Given the description of an element on the screen output the (x, y) to click on. 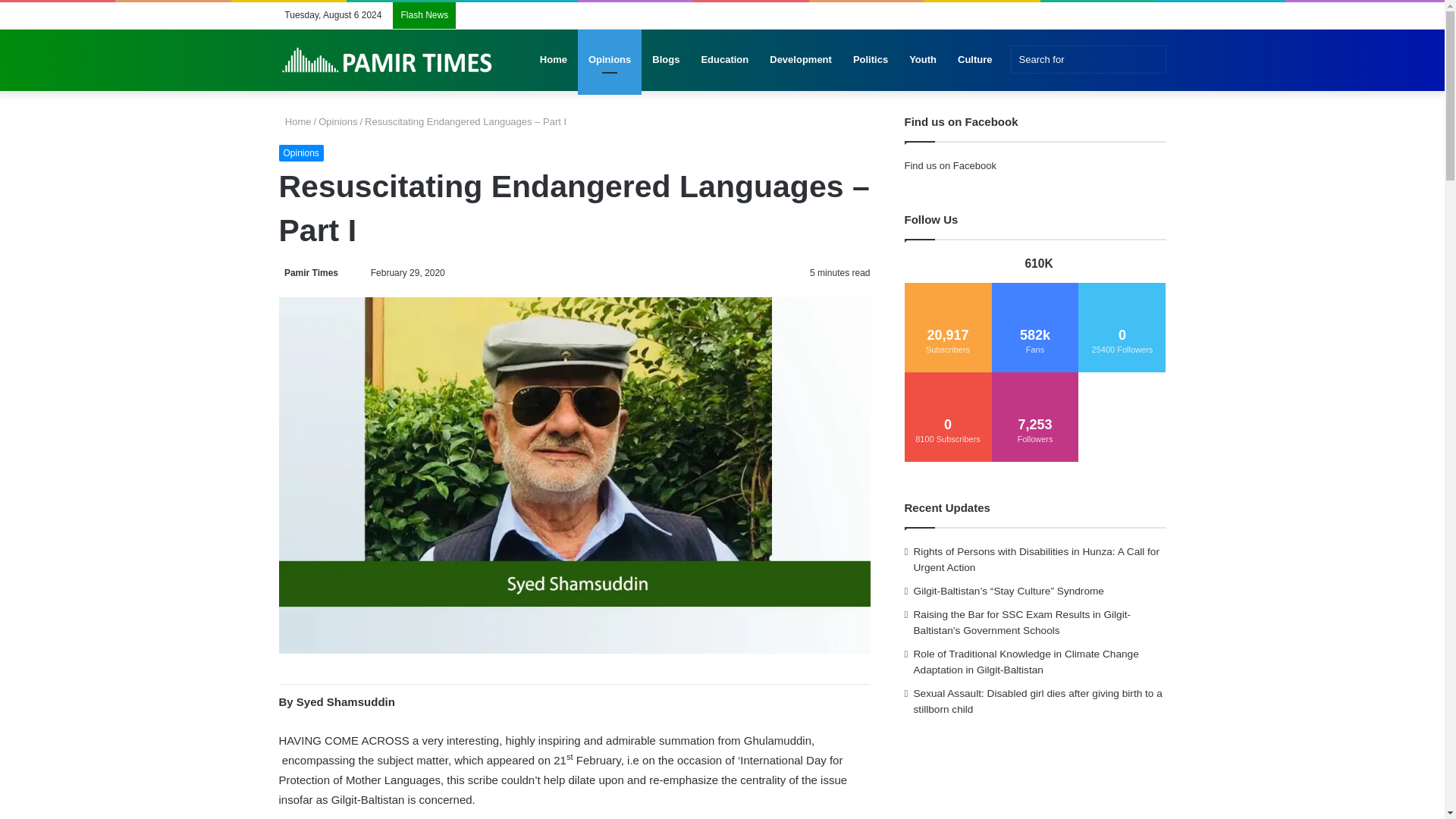
Culture (975, 59)
Development (800, 59)
Home (295, 121)
Opinions (301, 152)
Politics (870, 59)
Search for (1088, 59)
Pamir Times (309, 272)
Education (724, 59)
Pamir Times (309, 272)
PAMIR TIMES (387, 60)
